Given the description of an element on the screen output the (x, y) to click on. 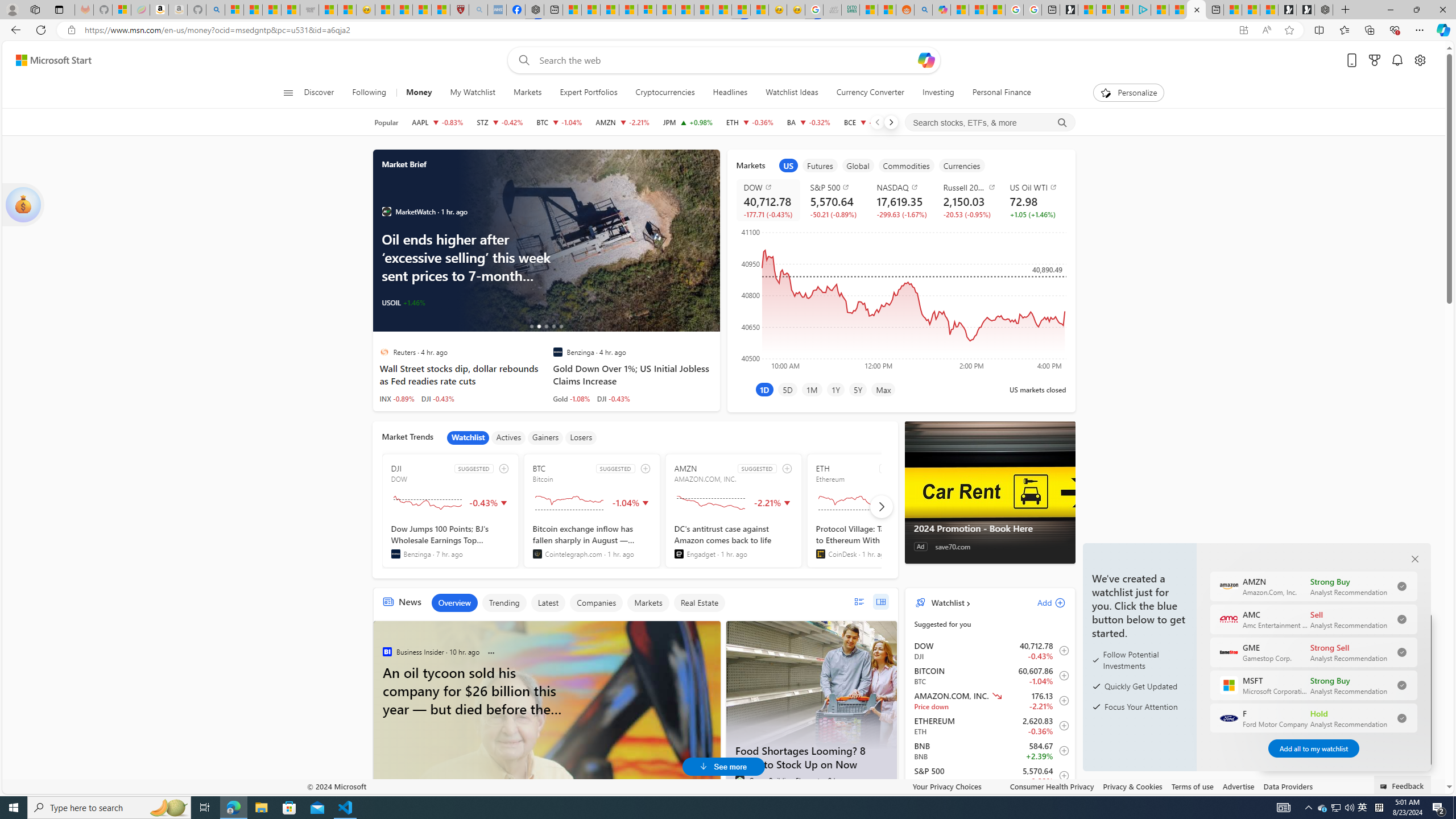
INX -0.89% (397, 397)
2024 Promotion - Book Here (988, 527)
Consumer Health Privacy (1051, 786)
US Oil WTI (1035, 187)
Your Privacy Choices (956, 785)
DOW DJI decrease 40,712.78 -177.71 -0.43% (767, 200)
Combat Siege (309, 9)
Search stocks, ETFs, & more (989, 122)
DITOGAMES AG Imprint (850, 9)
Benzinga (395, 553)
JPM JPMORGAN CHASE & CO. increase 216.71 +2.11 +0.98% (687, 122)
